Given the description of an element on the screen output the (x, y) to click on. 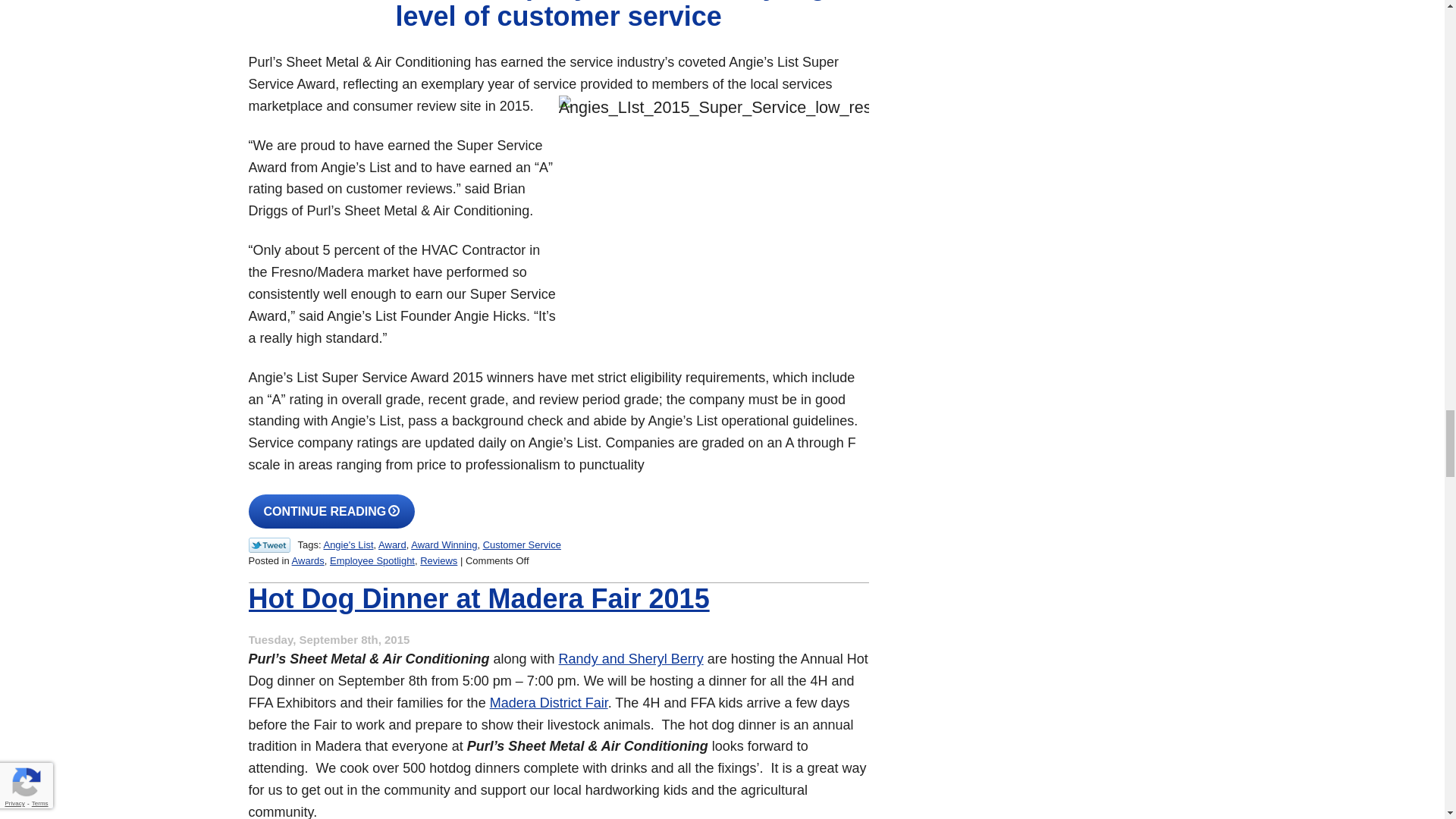
Permanent Link to Hot Dog Dinner at Madera Fair 2015 (479, 598)
